Given the description of an element on the screen output the (x, y) to click on. 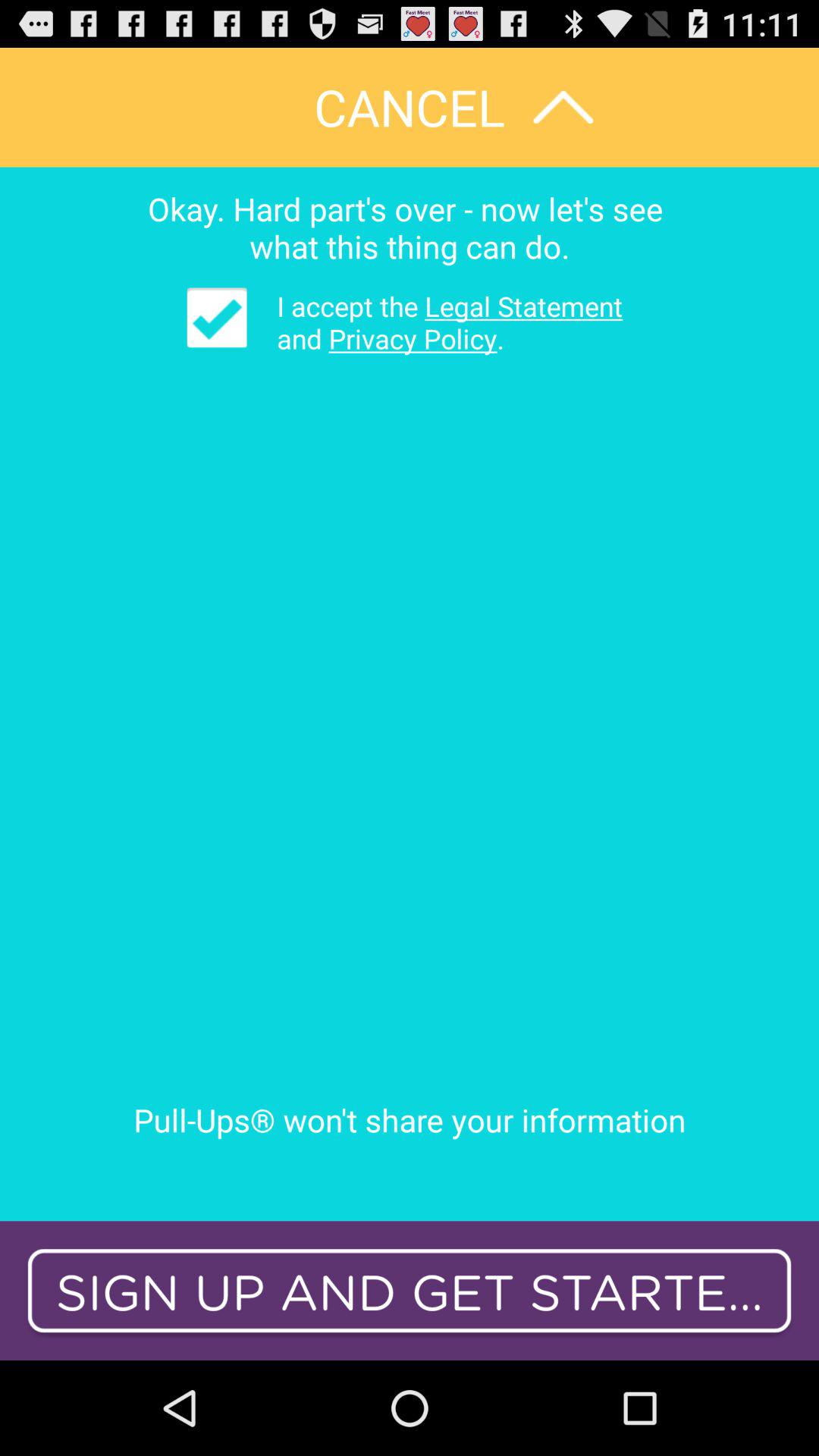
open the icon below okay hard part item (216, 317)
